Given the description of an element on the screen output the (x, y) to click on. 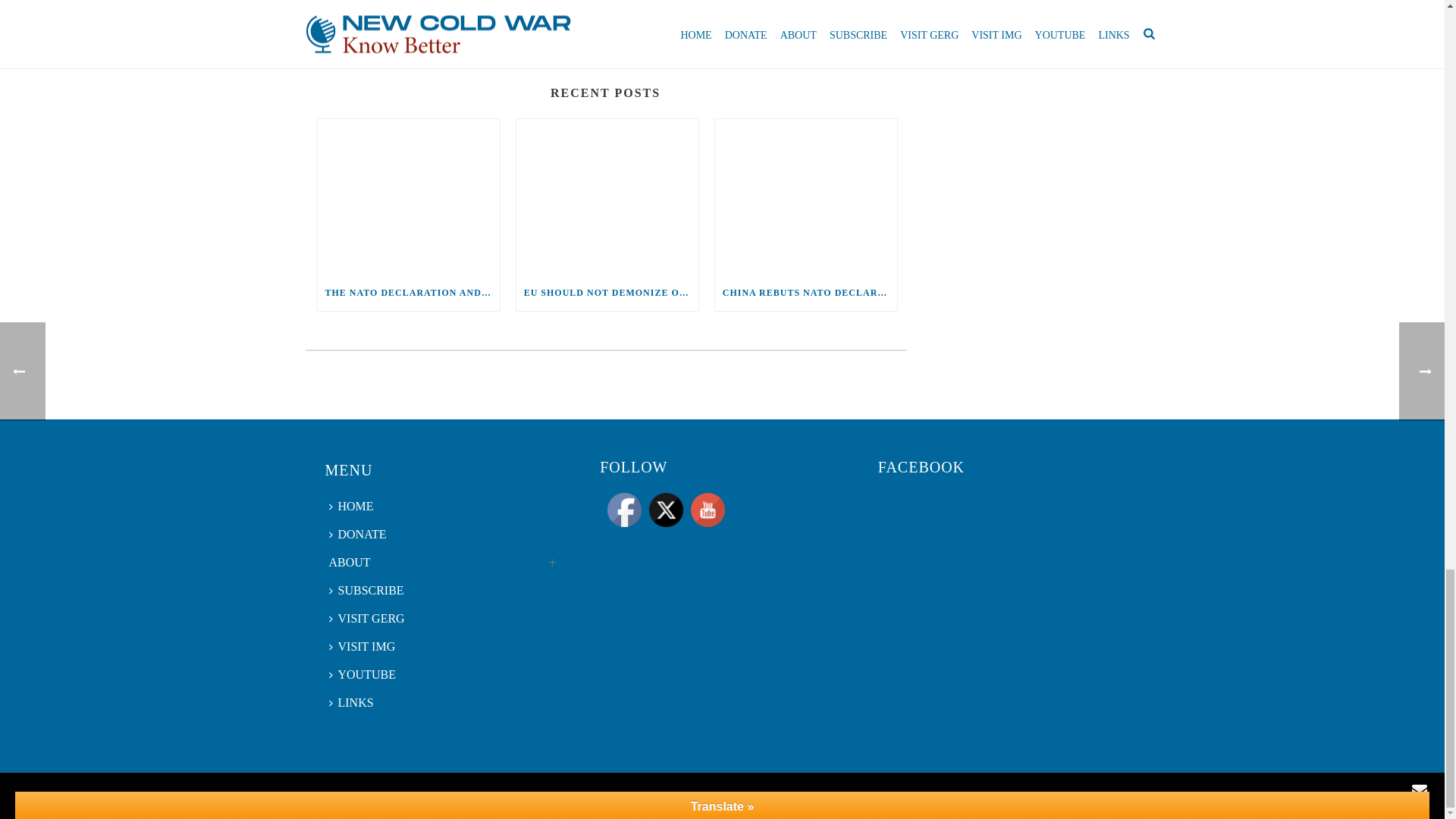
Twitter (665, 510)
YOUTUBE (707, 510)
Facebook (624, 510)
